Given the description of an element on the screen output the (x, y) to click on. 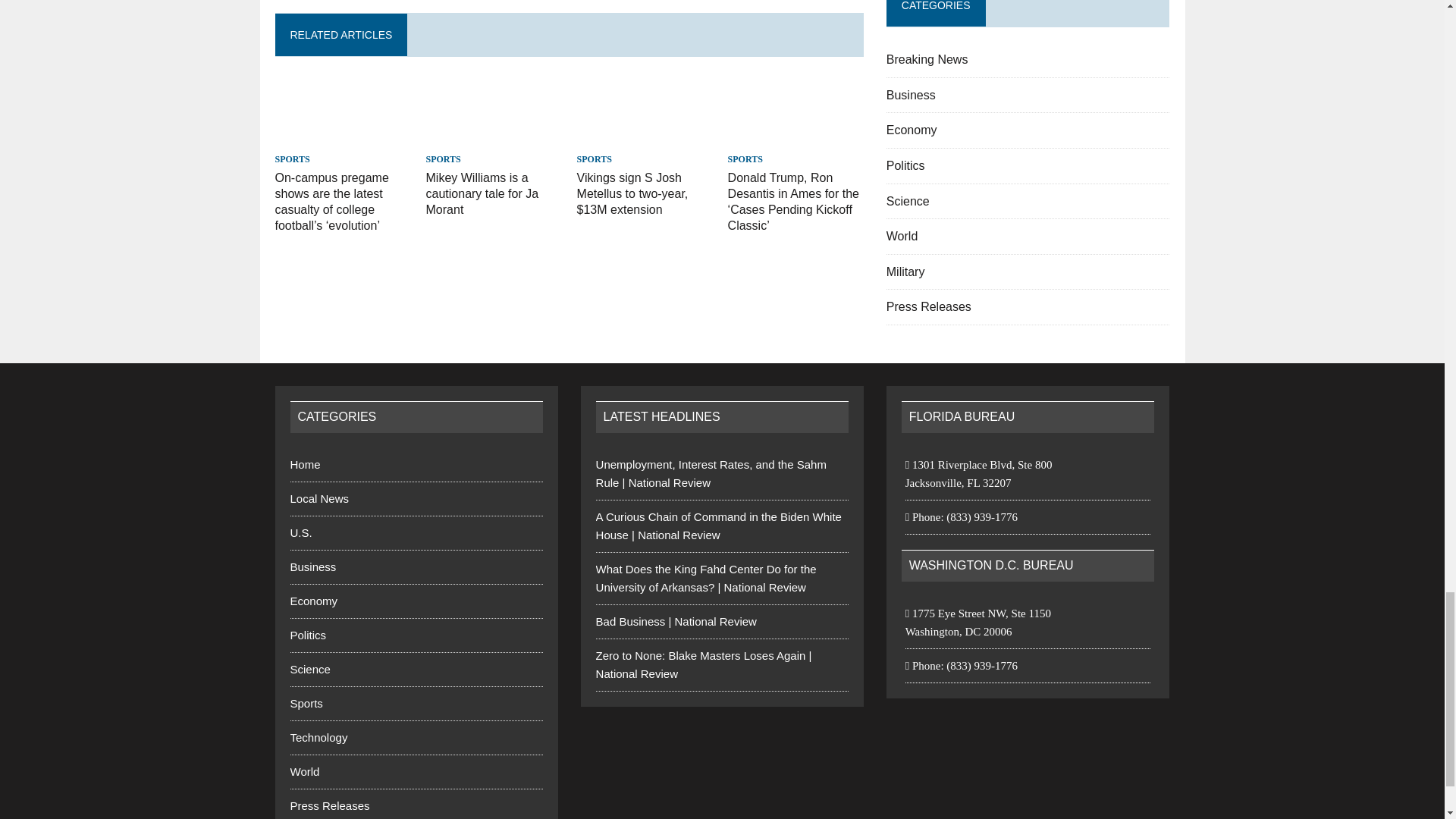
Mikey Williams is a cautionary tale for Ja Morant (494, 137)
Mikey Williams is a cautionary tale for Ja Morant (482, 193)
SPORTS (291, 158)
